Given the description of an element on the screen output the (x, y) to click on. 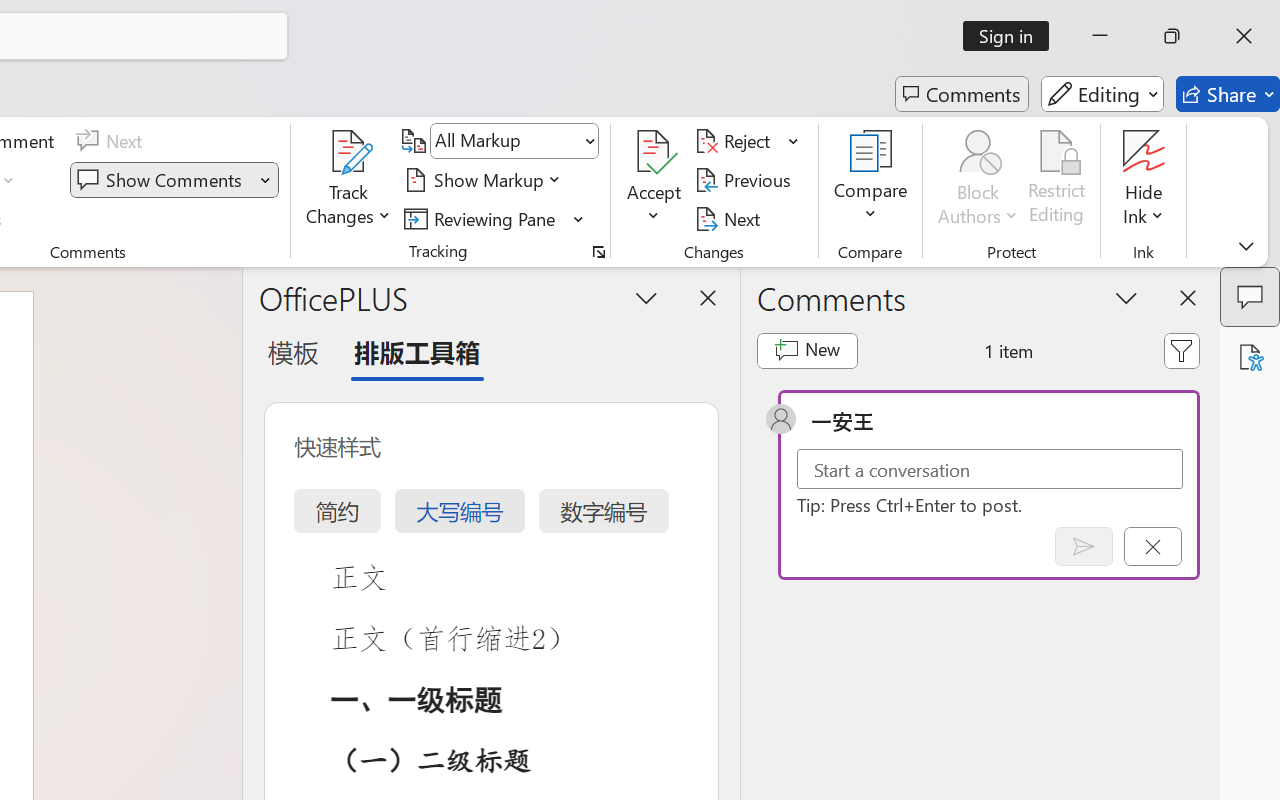
Show Comments (174, 179)
Show Comments (162, 179)
Display for Review (514, 141)
Sign in (1012, 35)
Change Tracking Options... (598, 252)
Accessibility Assistant (1249, 357)
New comment (806, 350)
Reviewing Pane (494, 218)
Accept (653, 179)
Reject and Move to Next (735, 141)
